Given the description of an element on the screen output the (x, y) to click on. 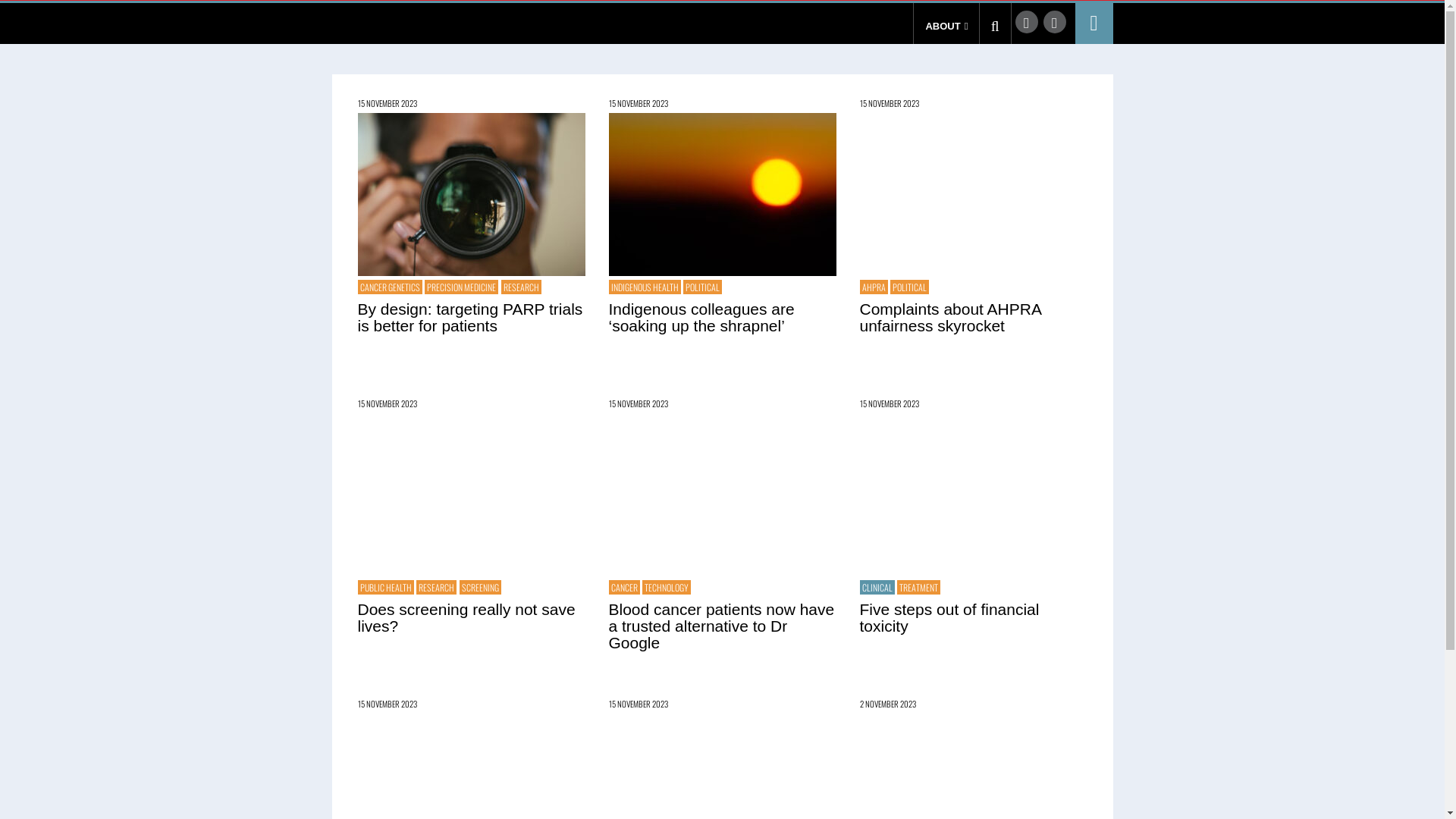
CANCER GENETICS Element type: text (389, 286)
Does screening really not save lives? Element type: text (466, 617)
Five steps out of financial toxicity Element type: text (949, 617)
Login menu Element type: hover (1094, 23)
POLITICAL Element type: text (909, 286)
Search Element type: hover (995, 26)
SCREENING Element type: text (480, 587)
By design: targeting PARP trials is better for patients Element type: text (470, 317)
ABOUT Element type: text (944, 25)
TECHNOLOGY Element type: text (666, 587)
CANCER Element type: text (623, 587)
Complaints about AHPRA unfairness skyrocket Element type: text (950, 317)
POLITICAL Element type: text (702, 286)
Connect with Us Element type: hover (1054, 21)
INDIGENOUS HEALTH Element type: text (644, 286)
PUBLIC HEALTH Element type: text (385, 587)
Oncology Republic Element type: text (396, 20)
on Element type: text (721, 560)
CLINICAL Element type: text (876, 587)
follow us Element type: hover (1025, 21)
PRECISION MEDICINE Element type: text (461, 286)
By design: targeting PARP trials is better for patients Element type: hover (471, 194)
TREATMENT Element type: text (918, 587)
1 Element type: text (631, 275)
RESEARCH Element type: text (436, 587)
AHPRA Element type: text (873, 286)
RESEARCH Element type: text (520, 286)
